Given the description of an element on the screen output the (x, y) to click on. 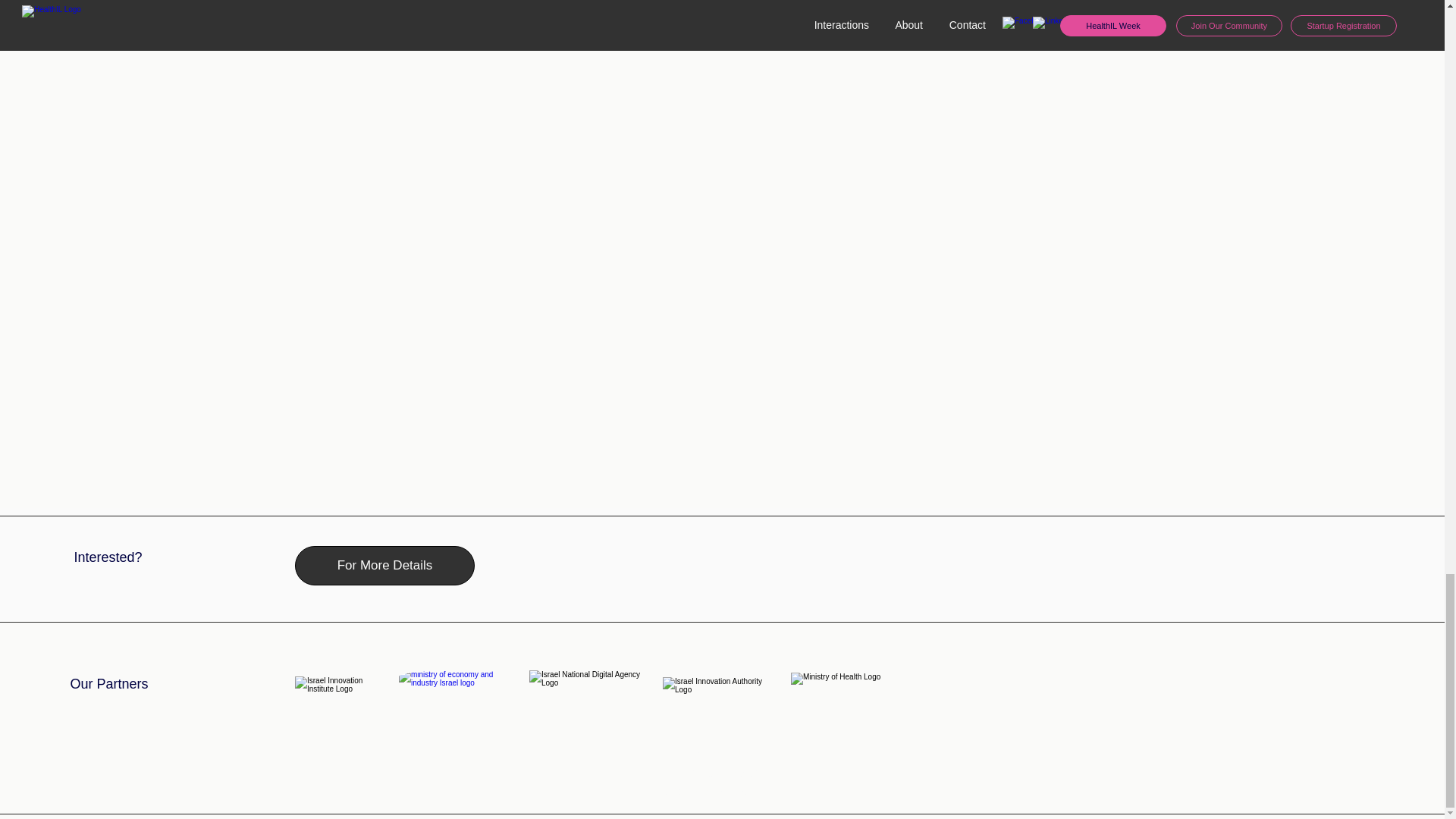
GeneralEng.jpg (458, 693)
Accessibility Statement (722, 789)
Privacy Policy (722, 771)
Terms of Use (722, 753)
For More Details (384, 565)
